Given the description of an element on the screen output the (x, y) to click on. 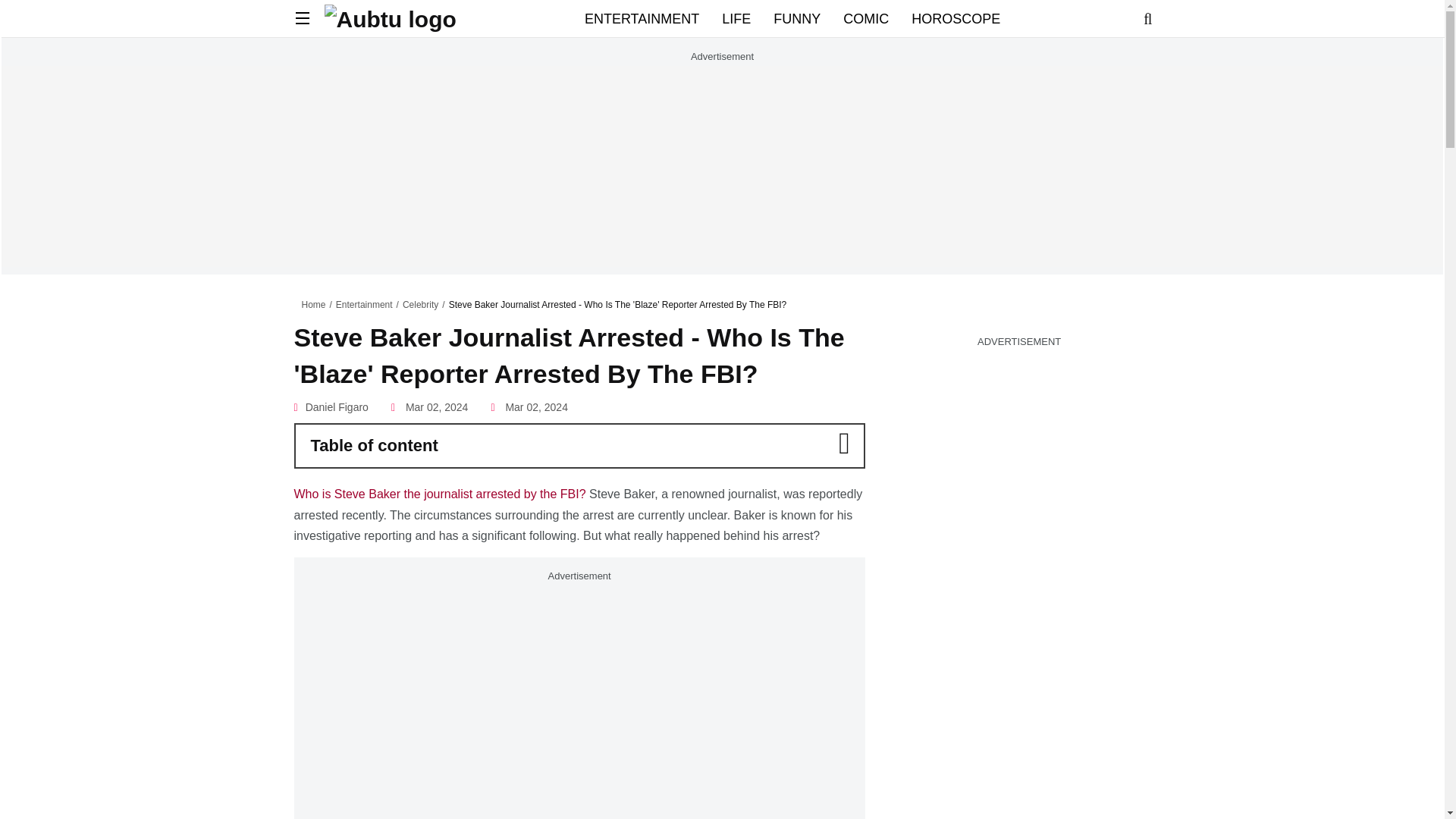
HOROSCOPE (955, 18)
COMIC (865, 18)
ENTERTAINMENT (641, 18)
Entertainment (364, 304)
Home (313, 304)
LIFE (736, 18)
FUNNY (797, 18)
